Given the description of an element on the screen output the (x, y) to click on. 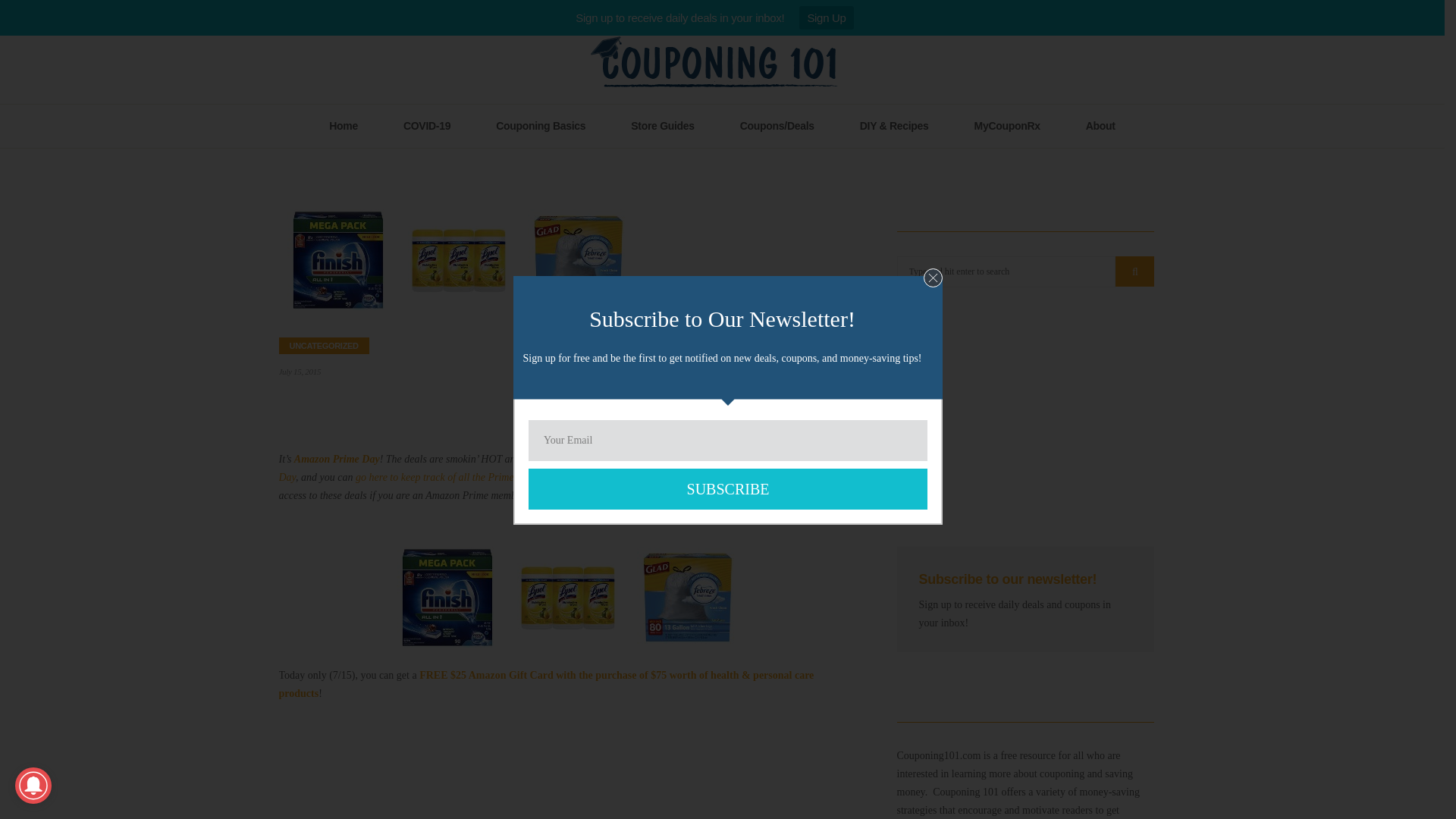
COVID-19 (426, 125)
Advertisement (1024, 411)
Couponing Basics (540, 125)
Home (343, 125)
Advertisement (565, 767)
Store Guides (663, 125)
Sign Up (826, 17)
